Given the description of an element on the screen output the (x, y) to click on. 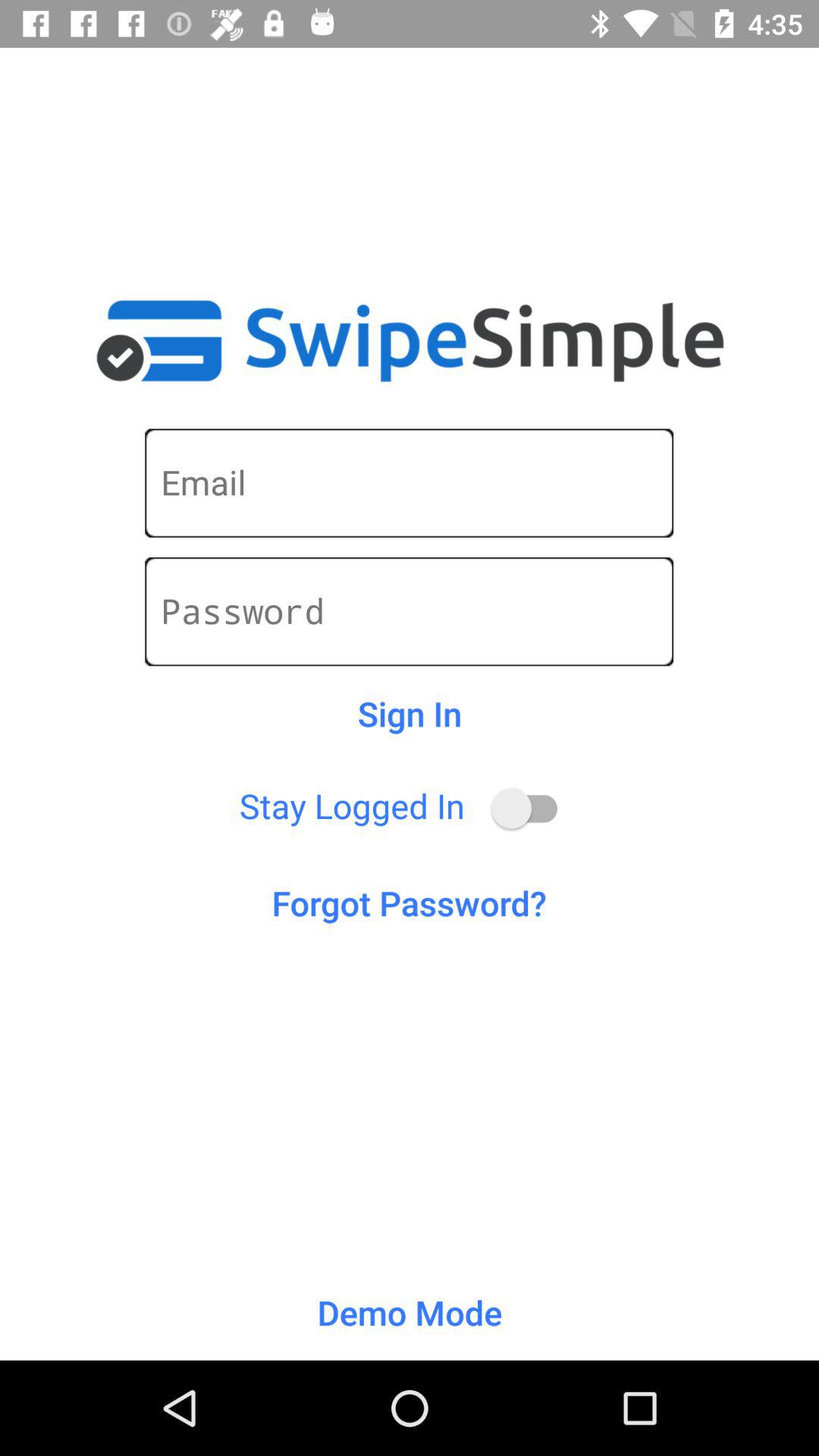
turn on icon below the forgot password? icon (409, 1312)
